Given the description of an element on the screen output the (x, y) to click on. 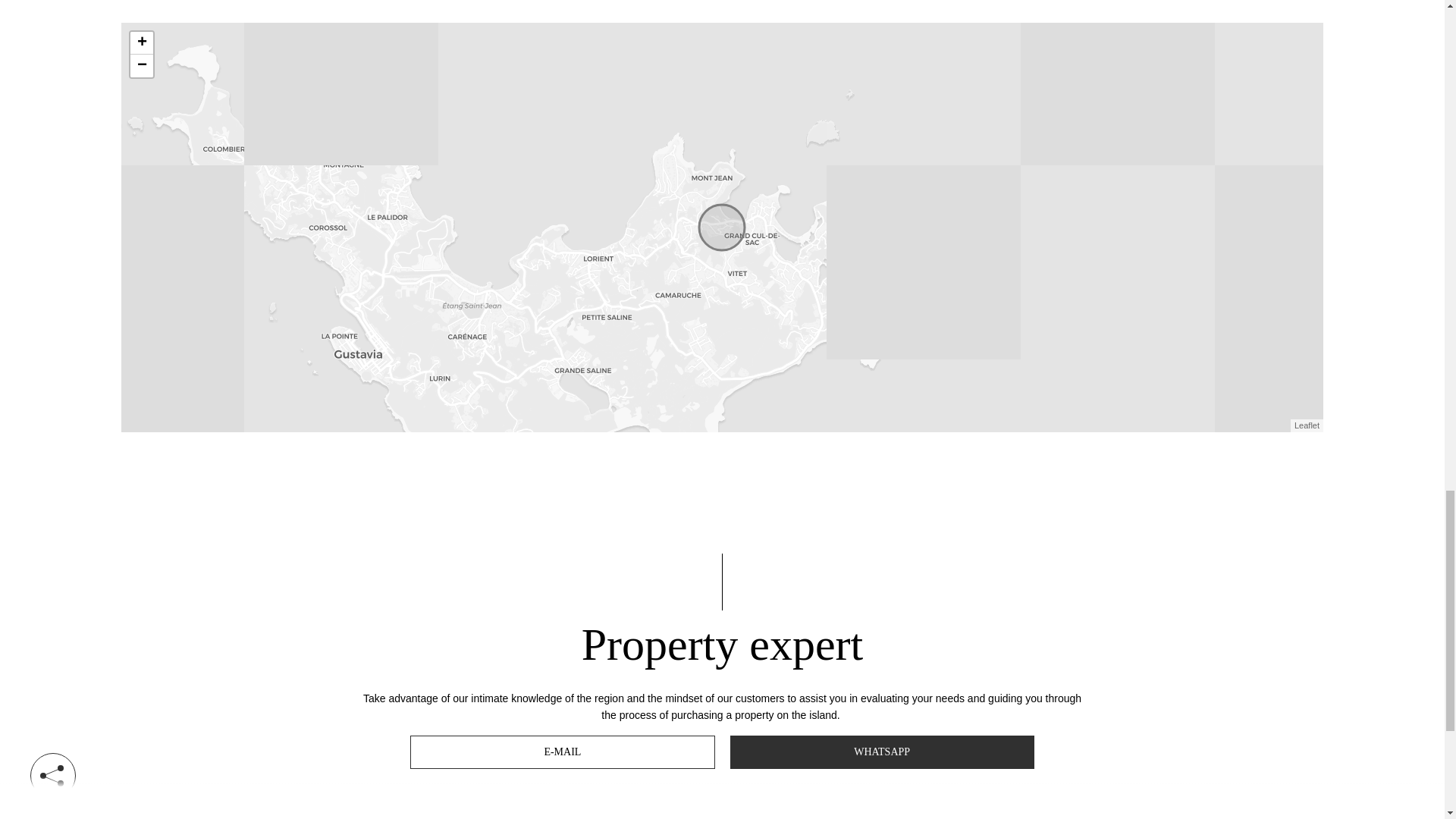
WHATSAPP (881, 752)
Zoom in (141, 42)
Zoom out (141, 65)
E-MAIL (562, 752)
Leaflet (1306, 424)
A JS library for interactive maps (1306, 424)
